Given the description of an element on the screen output the (x, y) to click on. 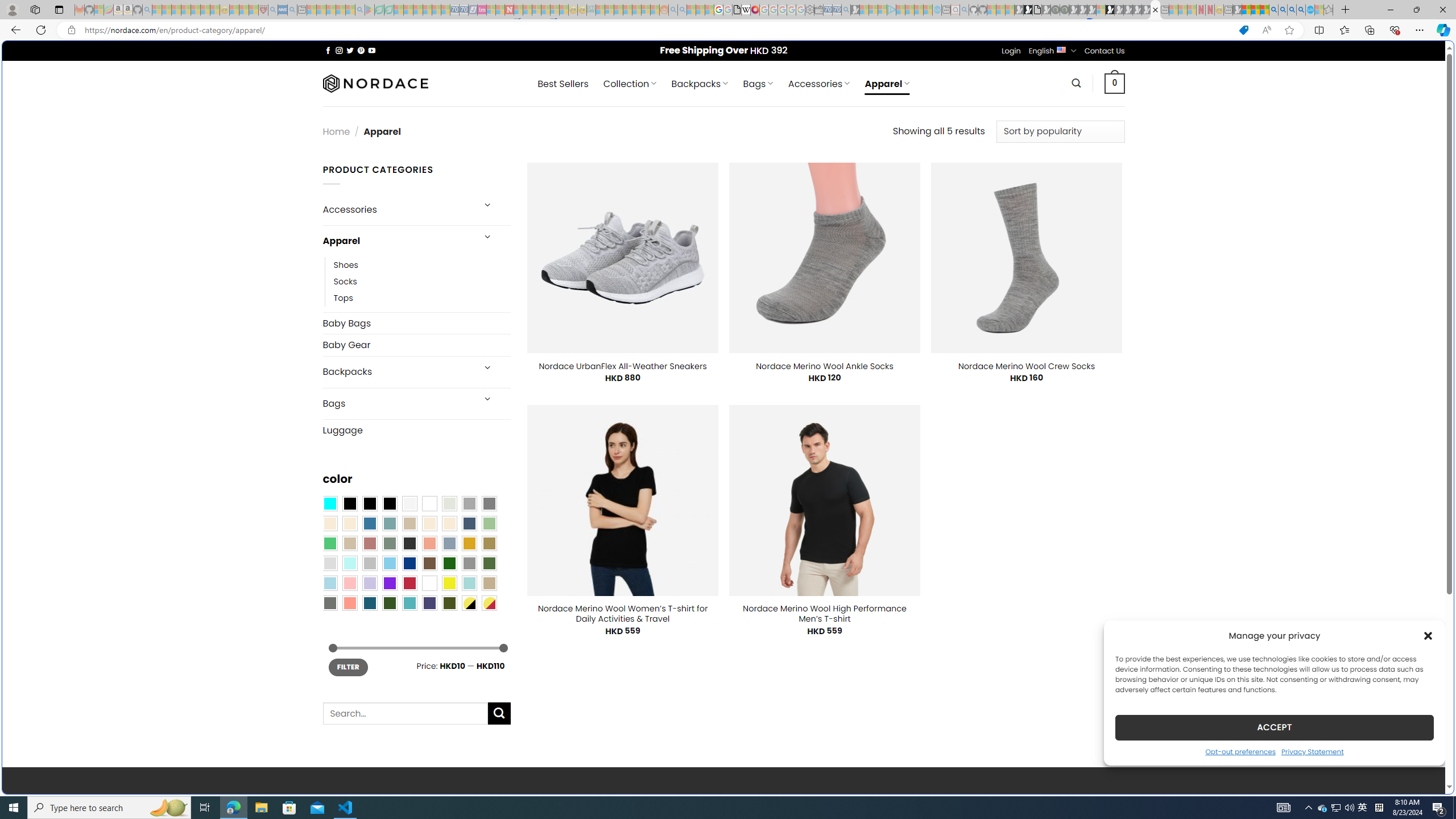
  0   (1115, 83)
ACCEPT (1274, 727)
Pink (349, 582)
